Given the description of an element on the screen output the (x, y) to click on. 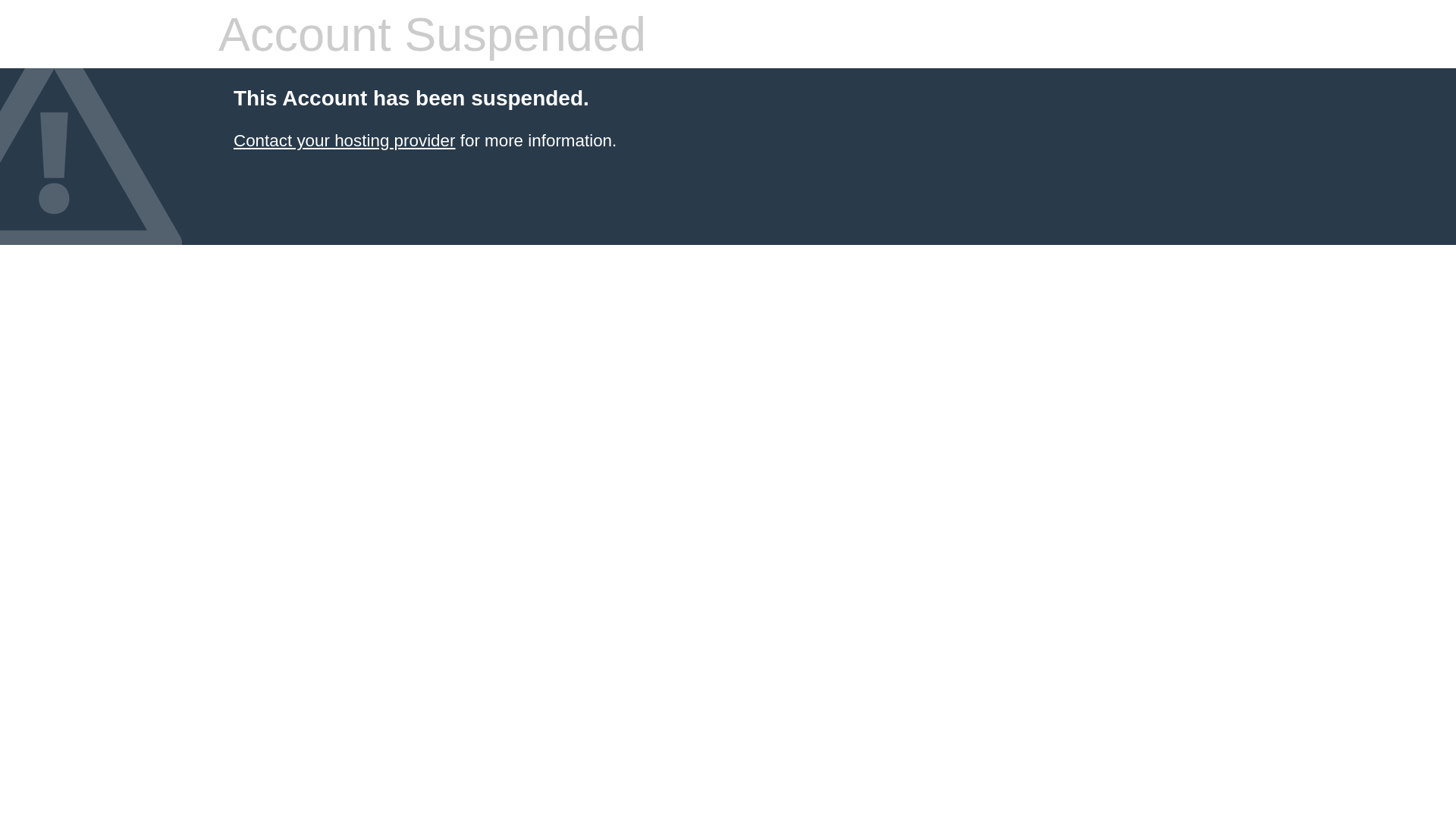
Contact your hosting provider Element type: text (344, 140)
